Given the description of an element on the screen output the (x, y) to click on. 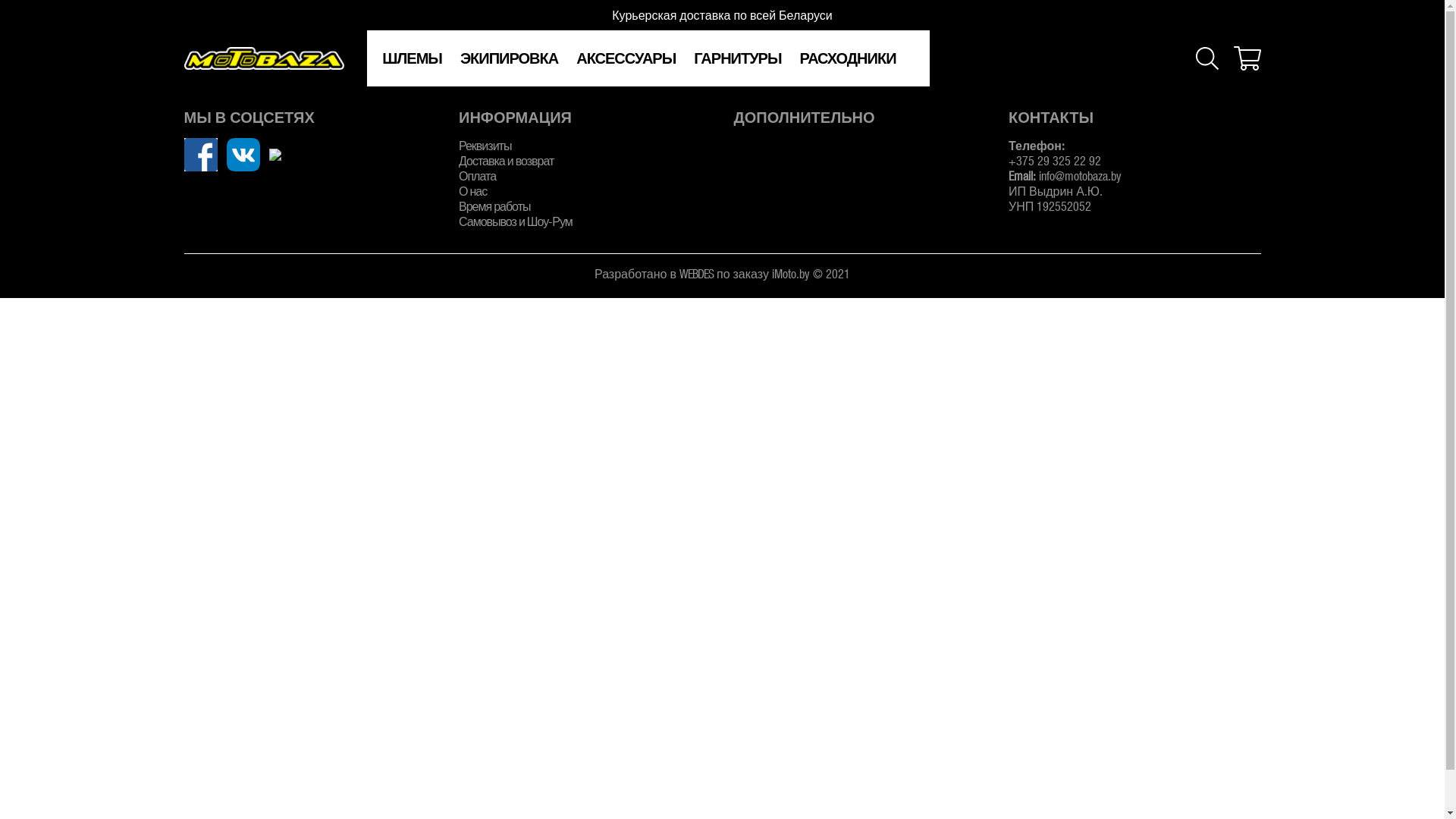
WEBDES Element type: text (696, 273)
